Given the description of an element on the screen output the (x, y) to click on. 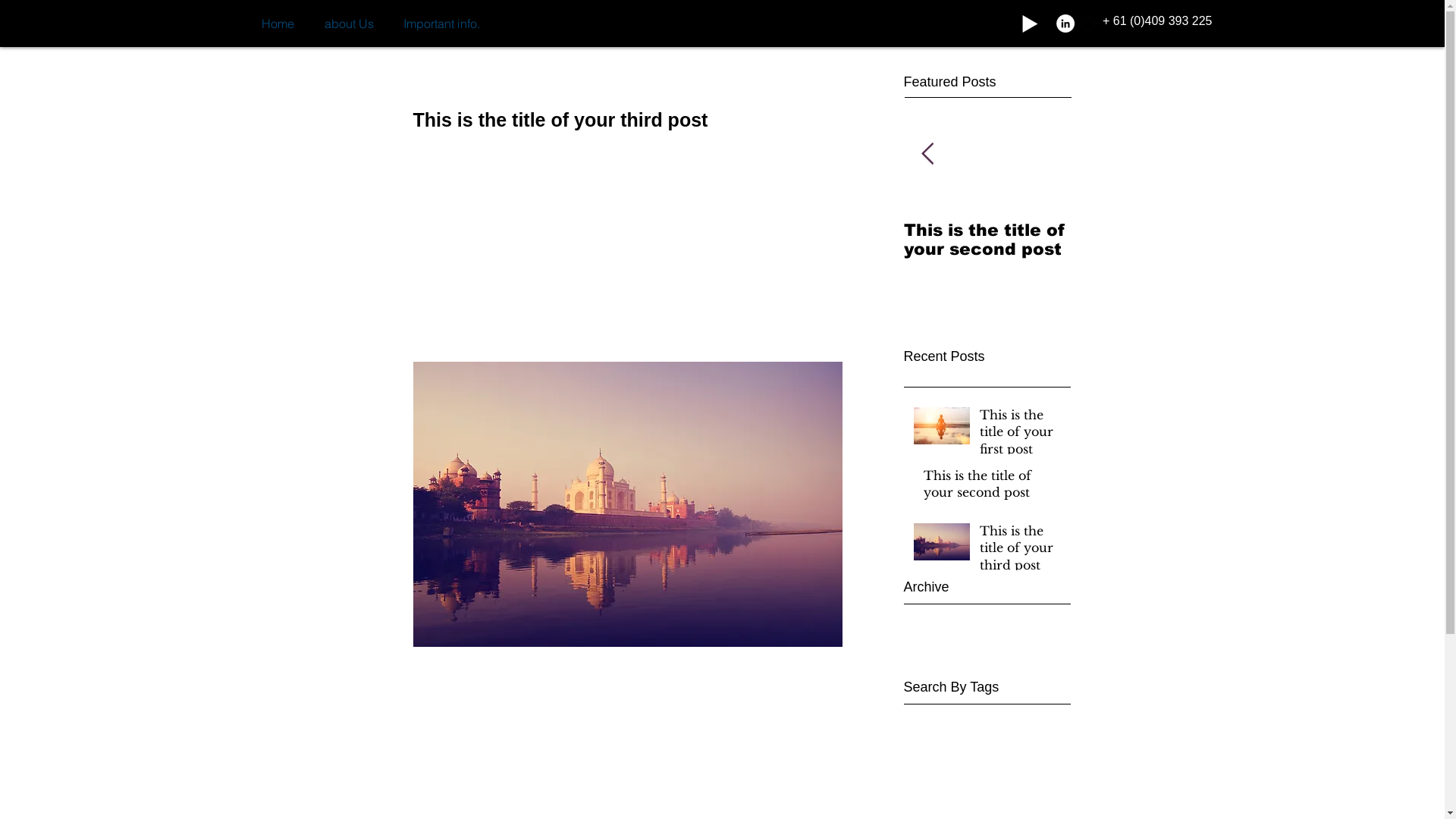
Home Element type: text (276, 23)
This is the title of your second post Element type: text (992, 487)
This is the title of your first post Element type: text (1020, 434)
about Us Element type: text (349, 23)
This is the title of your first post Element type: text (820, 239)
May 2015 (1) Element type: text (983, 654)
Sightseeing Element type: text (447, 744)
July 2015 (1) Element type: text (983, 617)
This is the title of your third post Element type: text (1020, 550)
Important info. Element type: text (441, 23)
This is the title of your second post Element type: text (986, 239)
June 2015 (1) Element type: text (983, 636)
